Given the description of an element on the screen output the (x, y) to click on. 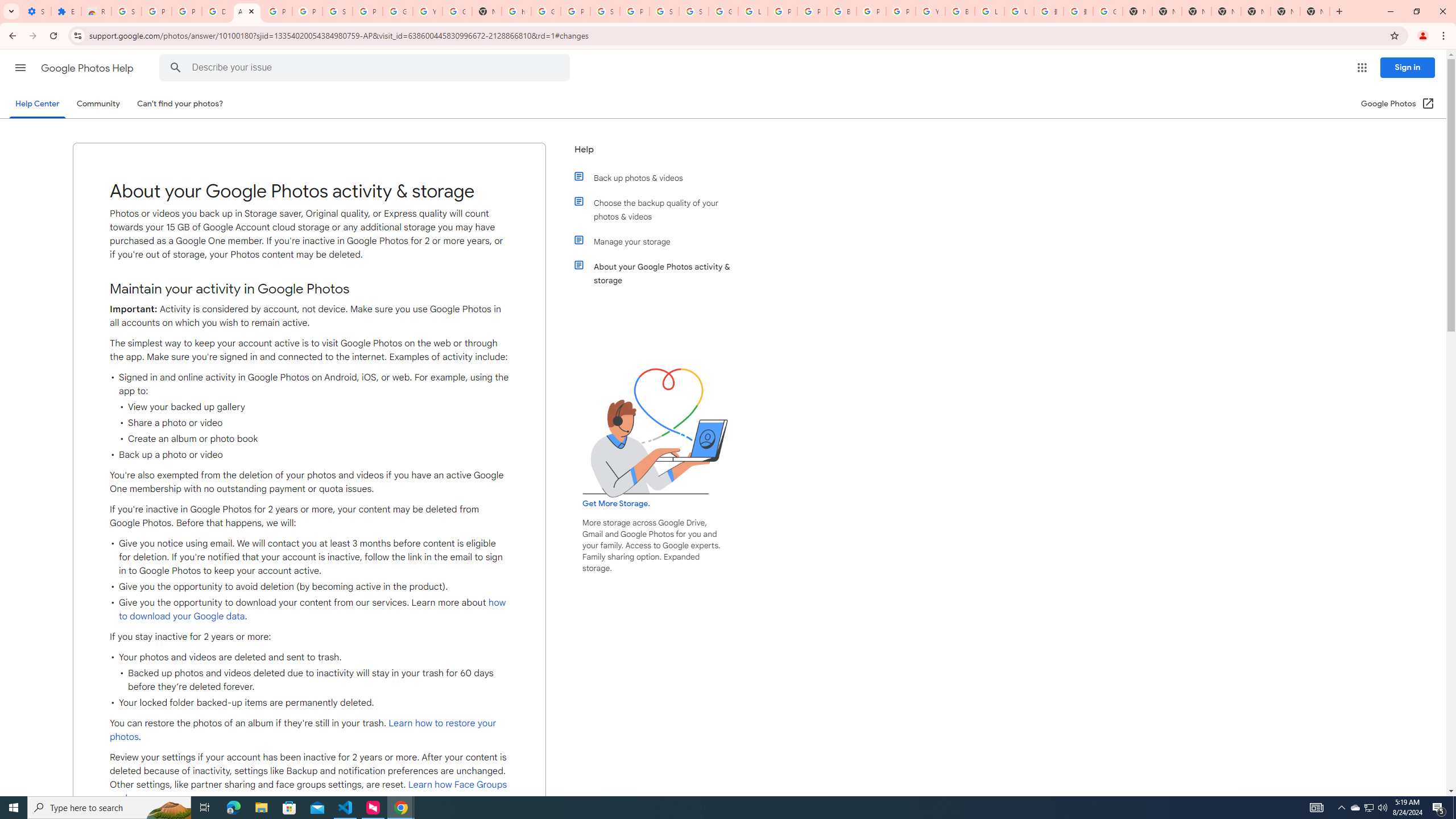
New Tab (1226, 11)
Google Images (1107, 11)
About your Google Photos activity & storage (661, 273)
Settings - On startup (36, 11)
Learn how to restore your photos (302, 729)
YouTube (930, 11)
